Given the description of an element on the screen output the (x, y) to click on. 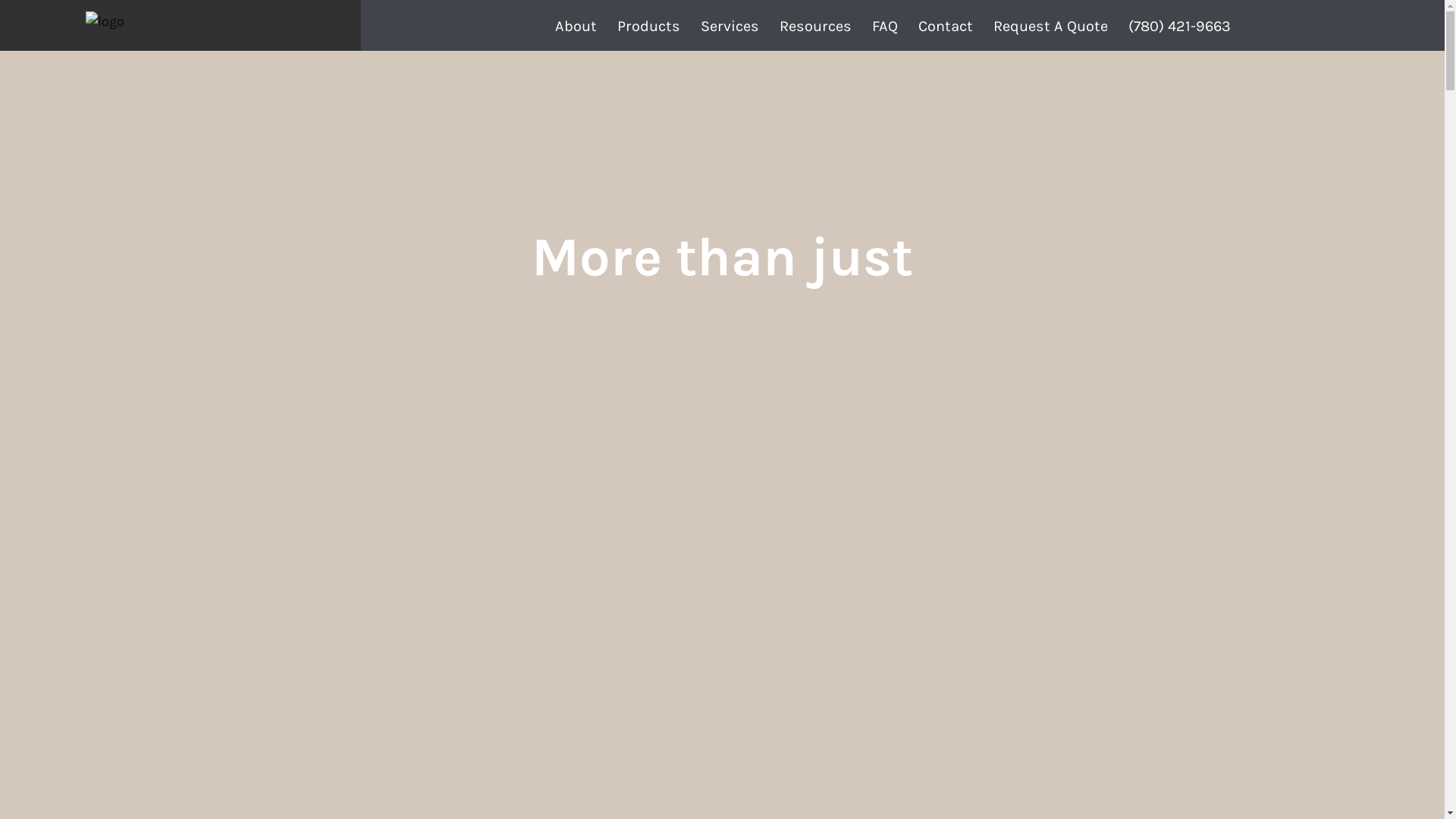
FAQ (885, 25)
Services (729, 25)
About (575, 25)
Request A Quote (1050, 25)
Contact (945, 25)
Products (648, 25)
Resources (814, 25)
